Given the description of an element on the screen output the (x, y) to click on. 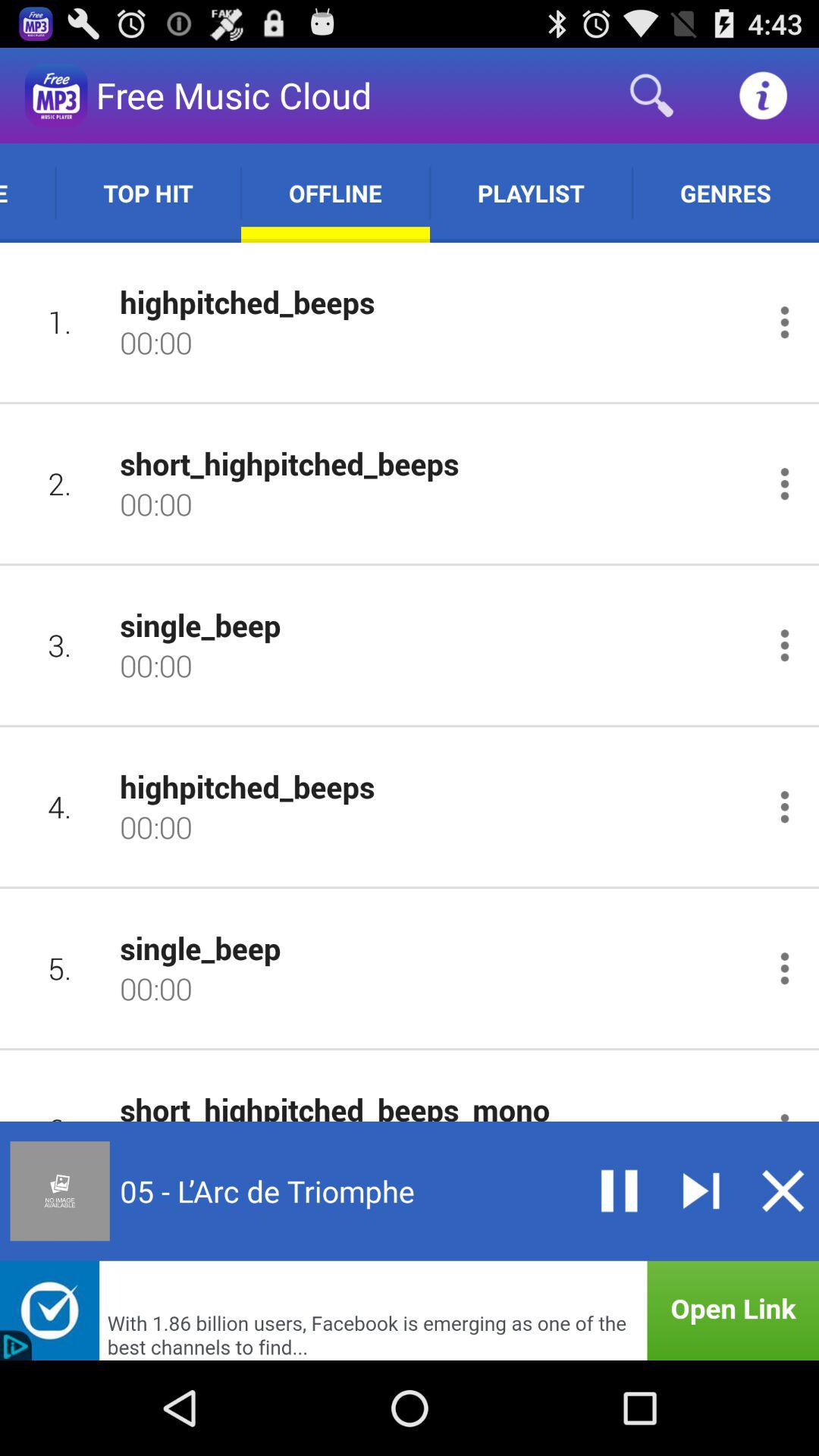
view other options (784, 645)
